Given the description of an element on the screen output the (x, y) to click on. 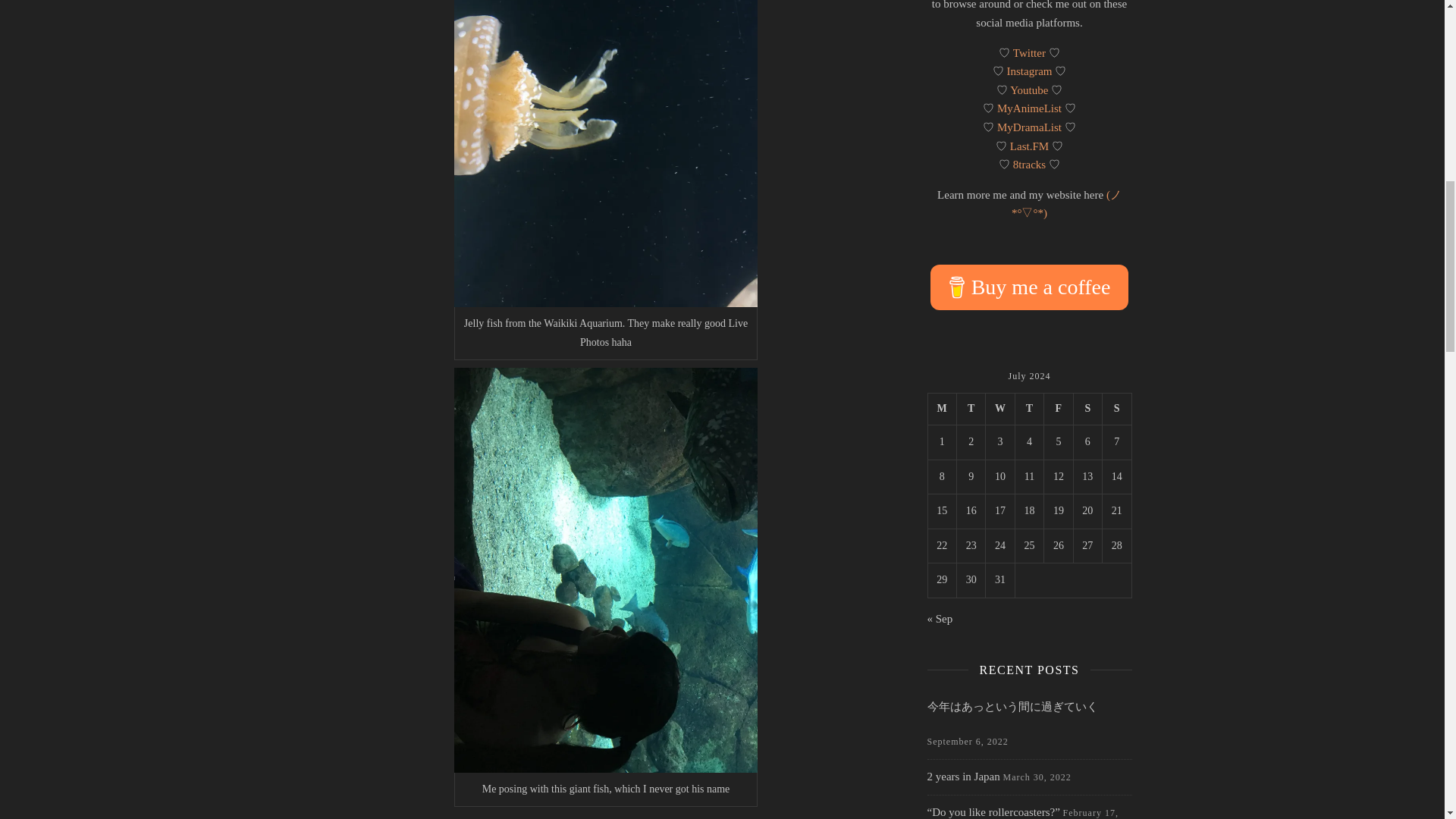
Saturday (1087, 409)
Tuesday (970, 409)
Wednesday (999, 409)
Friday (1058, 409)
Thursday (1028, 409)
Monday (941, 409)
Sunday (1116, 409)
